Given the description of an element on the screen output the (x, y) to click on. 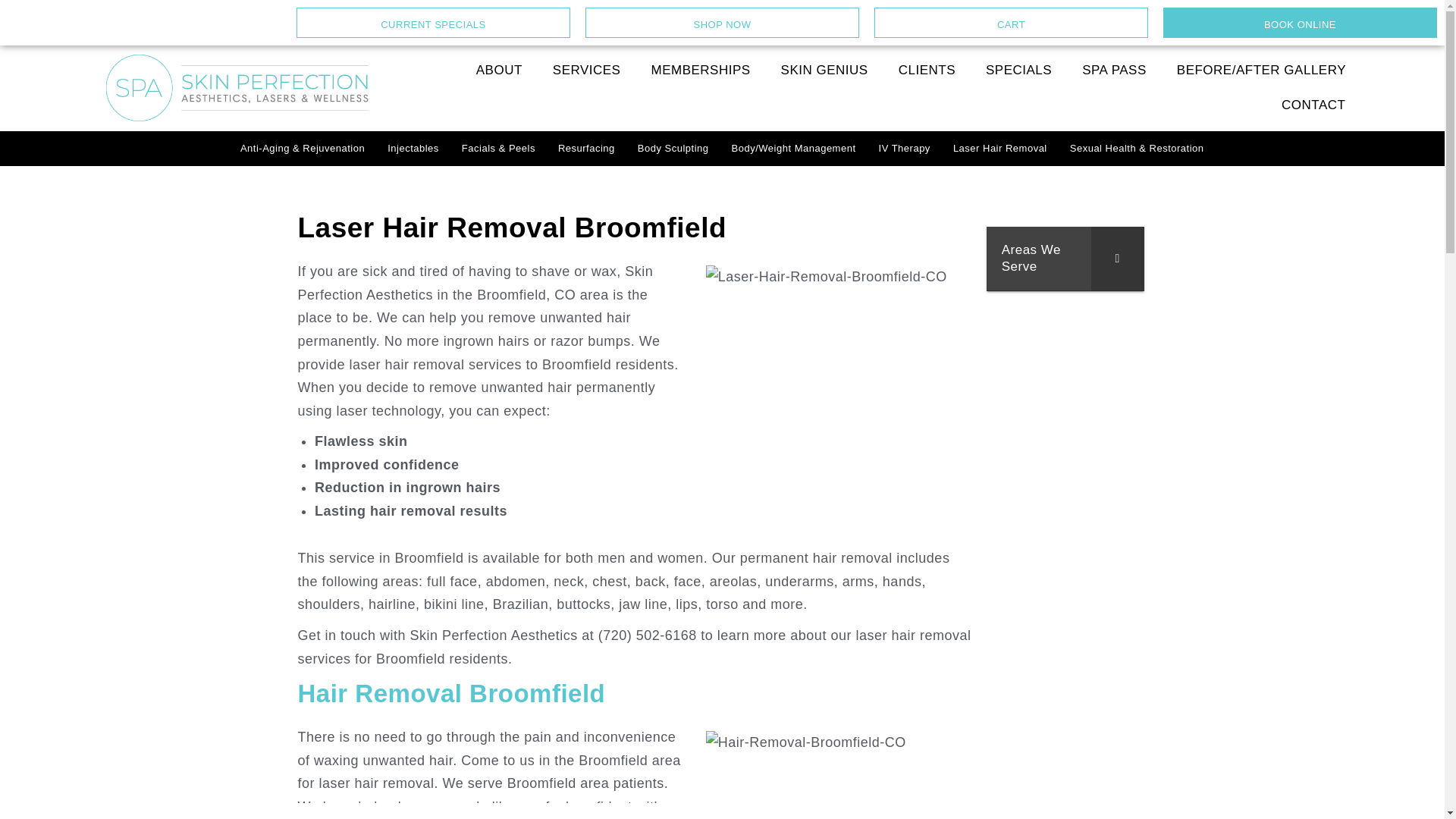
CURRENT SPECIALS (433, 22)
ABOUT (499, 70)
CLIENTS (927, 70)
CART (1011, 22)
CONTACT (1312, 104)
MEMBERSHIPS (699, 70)
SPA PASS (1114, 70)
SERVICES (586, 70)
SKIN GENIUS (824, 70)
SHOP NOW (722, 22)
